Given the description of an element on the screen output the (x, y) to click on. 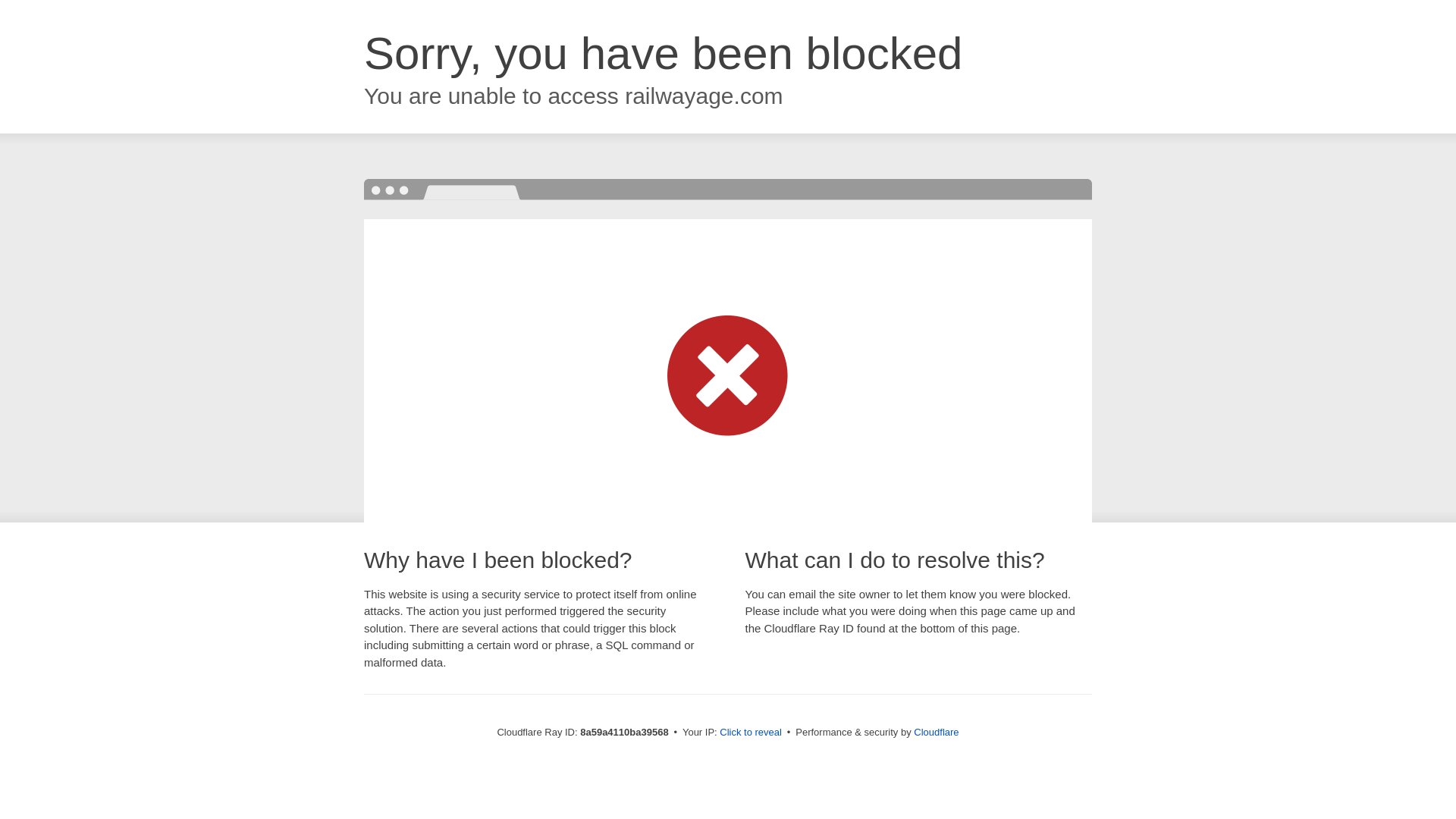
Cloudflare (936, 731)
Click to reveal (750, 732)
